Given the description of an element on the screen output the (x, y) to click on. 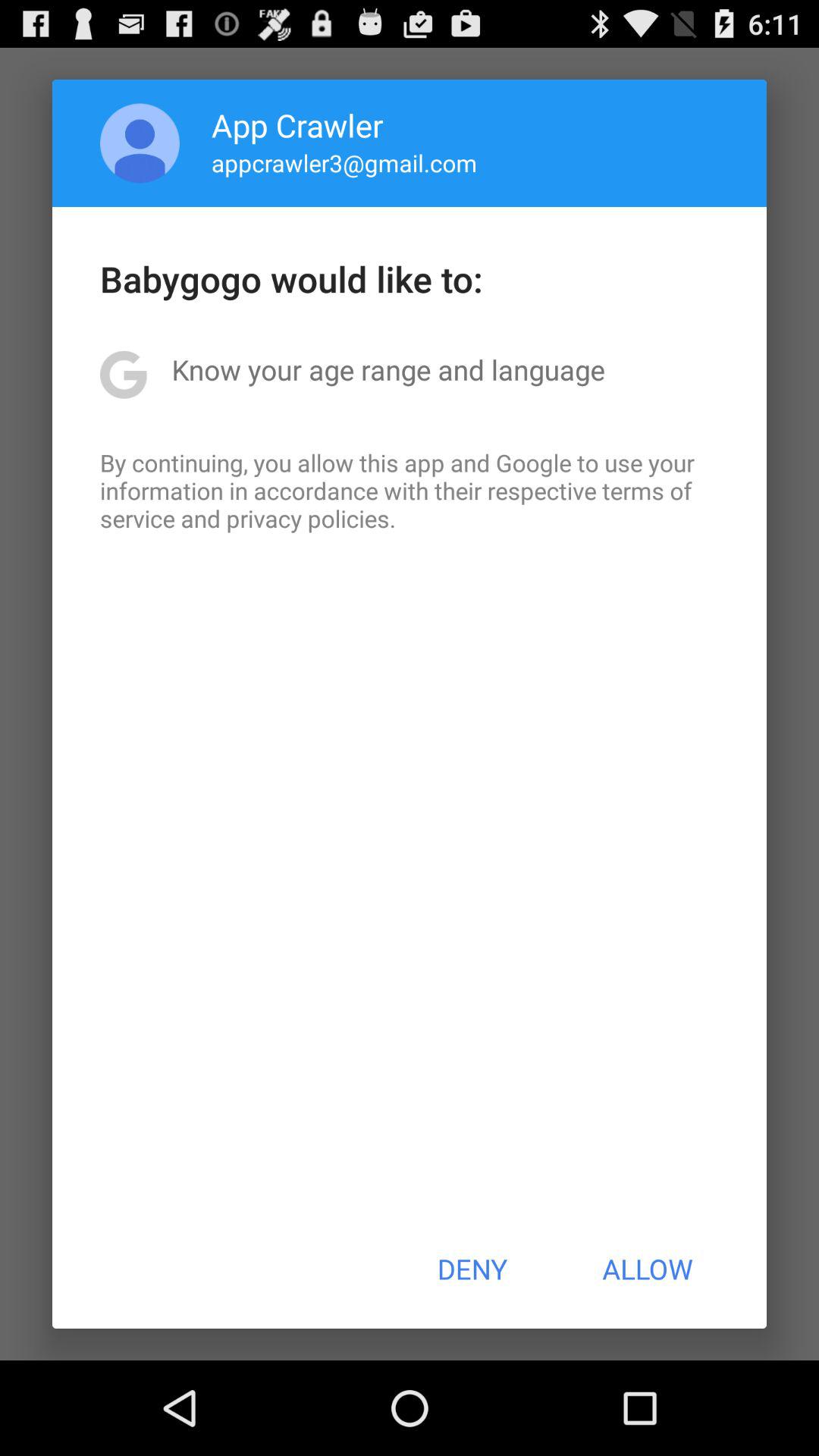
choose app crawler (297, 124)
